Given the description of an element on the screen output the (x, y) to click on. 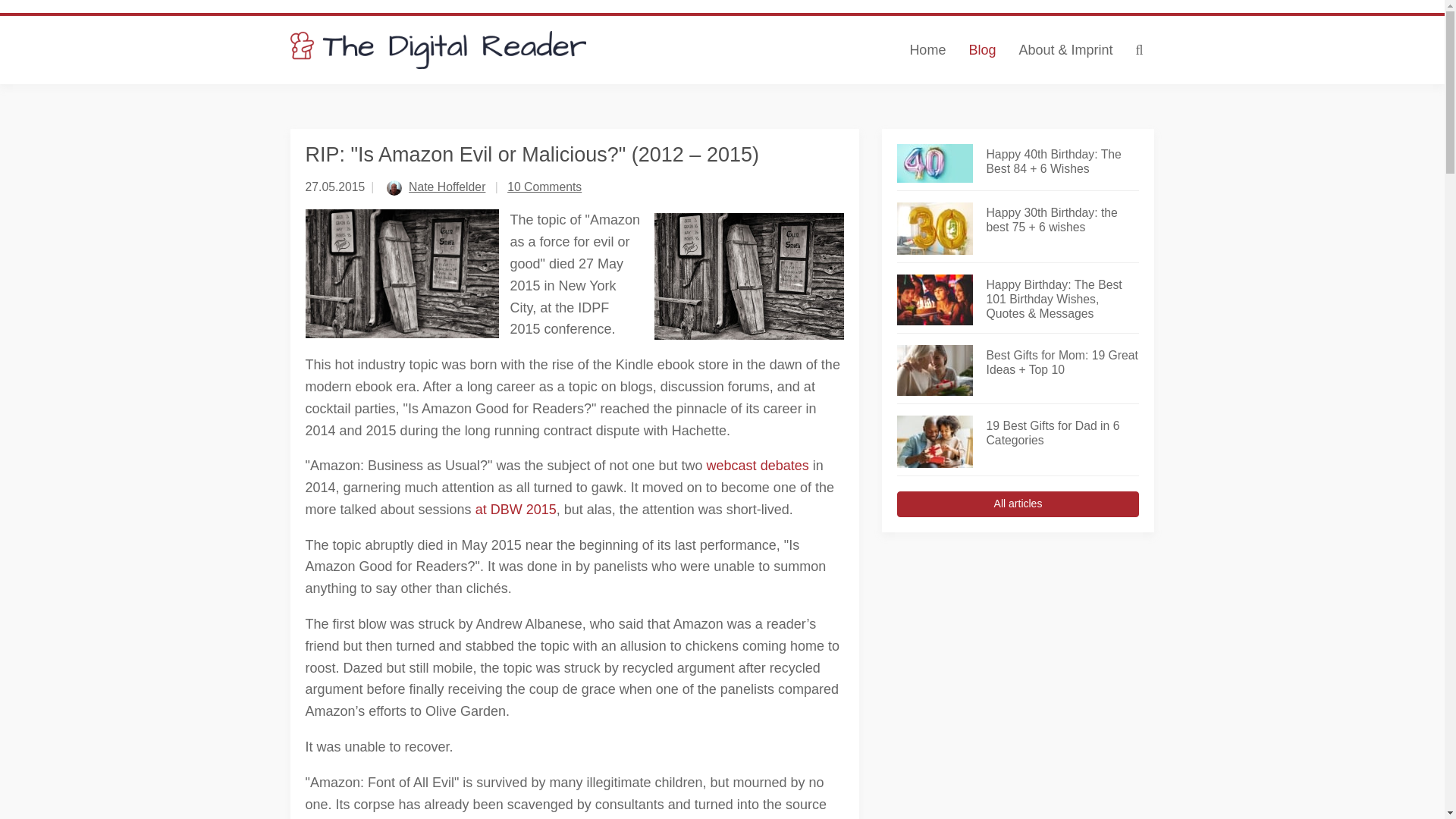
webcast (731, 465)
at DBW 2015 (516, 509)
Home (927, 49)
Blog (981, 49)
Nate Hoffelder (446, 186)
The Digital Reader (437, 49)
debates (784, 465)
10 Comments (543, 186)
